Given the description of an element on the screen output the (x, y) to click on. 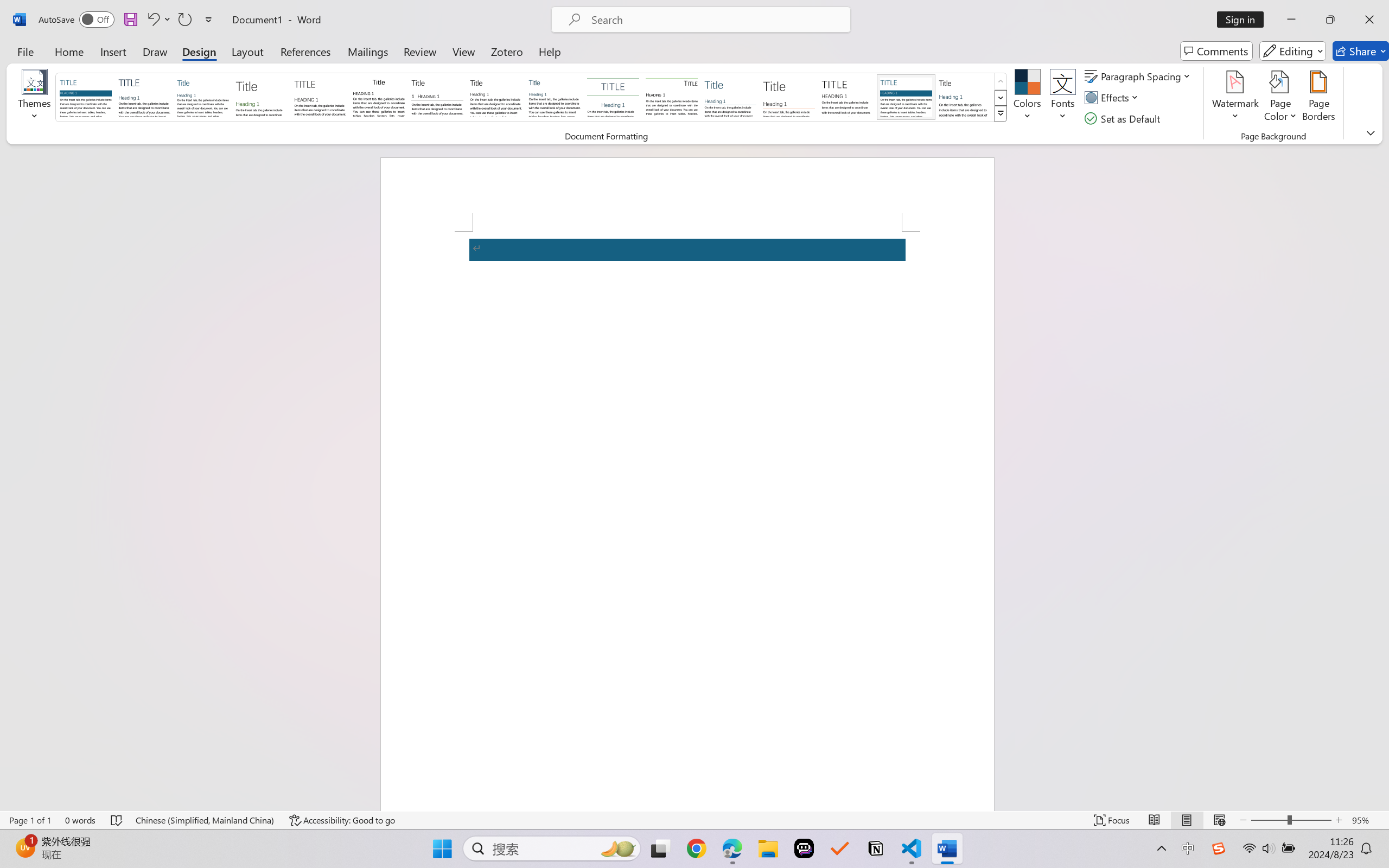
Lines (Simple) (730, 96)
Editing (1292, 50)
Paragraph Spacing (1139, 75)
Watermark (1235, 97)
Black & White (Word 2013) (495, 96)
Sign in (1244, 19)
Fonts (1062, 97)
Casual (554, 96)
